Given the description of an element on the screen output the (x, y) to click on. 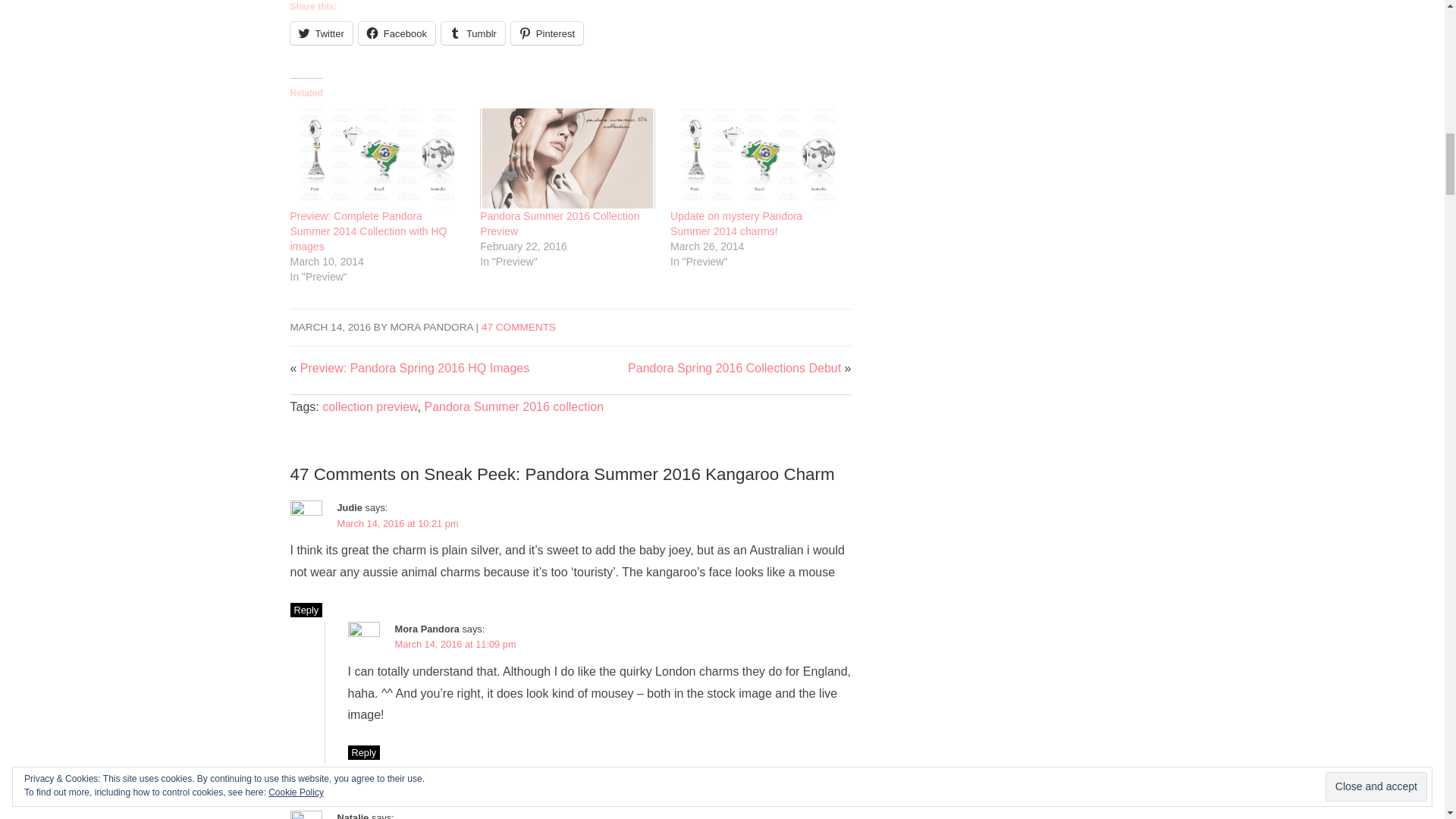
Facebook (396, 33)
Update on mystery Pandora Summer 2014 charms! (735, 223)
Click to share on Facebook (396, 33)
Click to share on Tumblr (473, 33)
Twitter (320, 33)
Pandora Summer 2016 Collection Preview (559, 223)
Click to share on Twitter (320, 33)
Click to share on Pinterest (547, 33)
Update on mystery Pandora Summer 2014 charms! (757, 158)
Pandora Summer 2016 Collection Preview (567, 158)
